Given the description of an element on the screen output the (x, y) to click on. 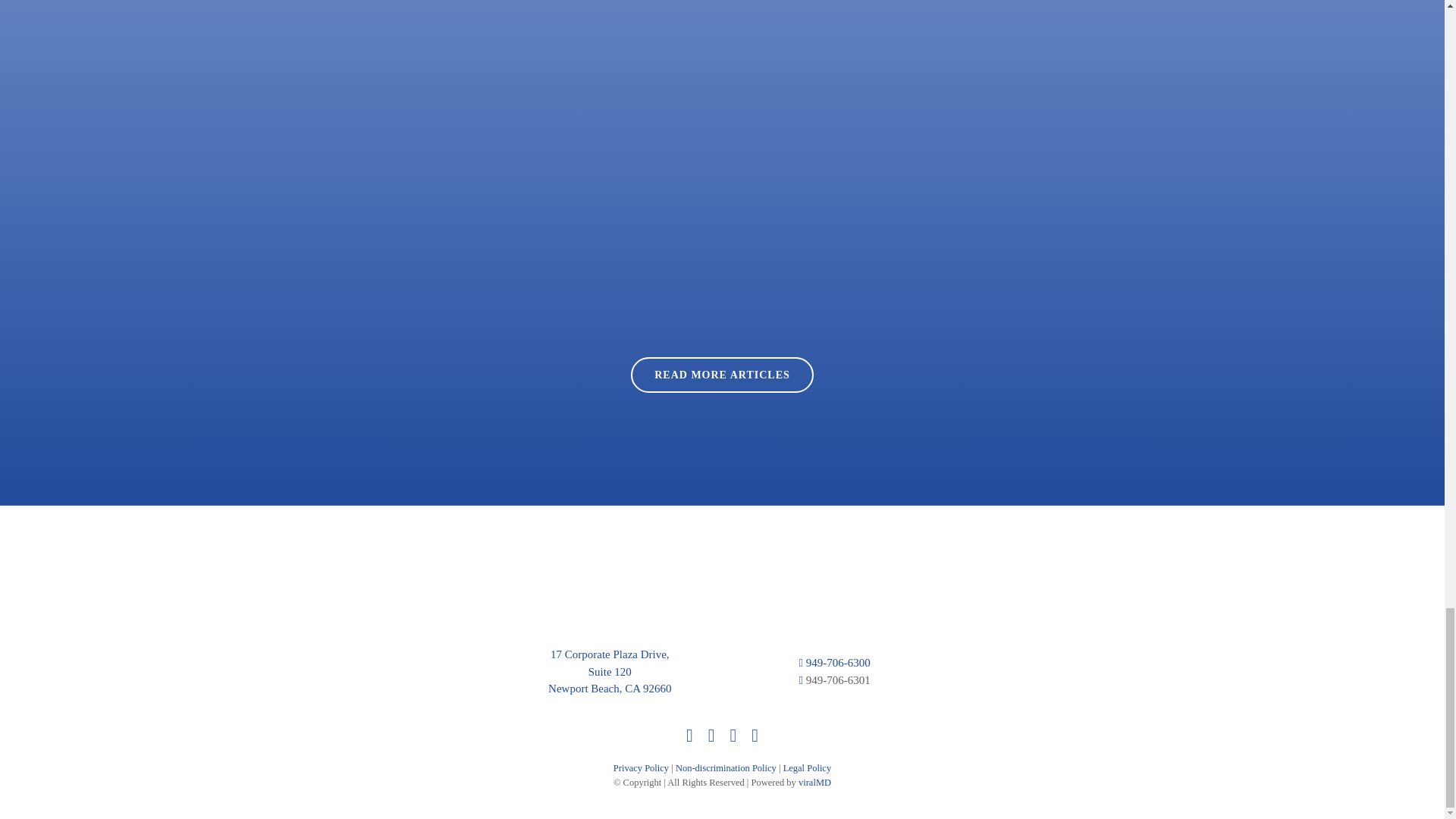
READ MORE ARTICLES (721, 375)
